Given the description of an element on the screen output the (x, y) to click on. 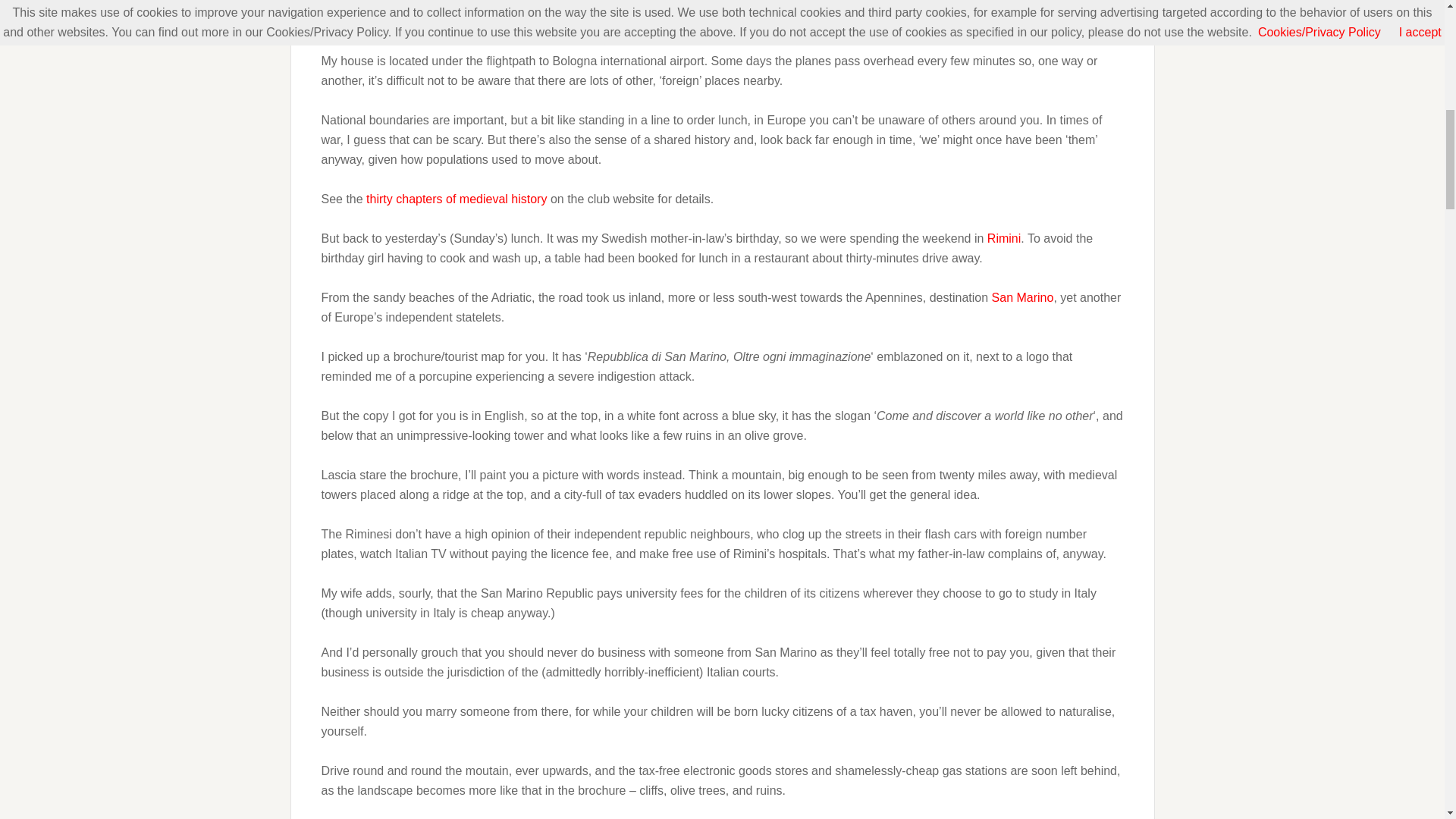
San Marino (1022, 297)
thirty chapters of medieval history (456, 198)
Rimini (1003, 237)
